Given the description of an element on the screen output the (x, y) to click on. 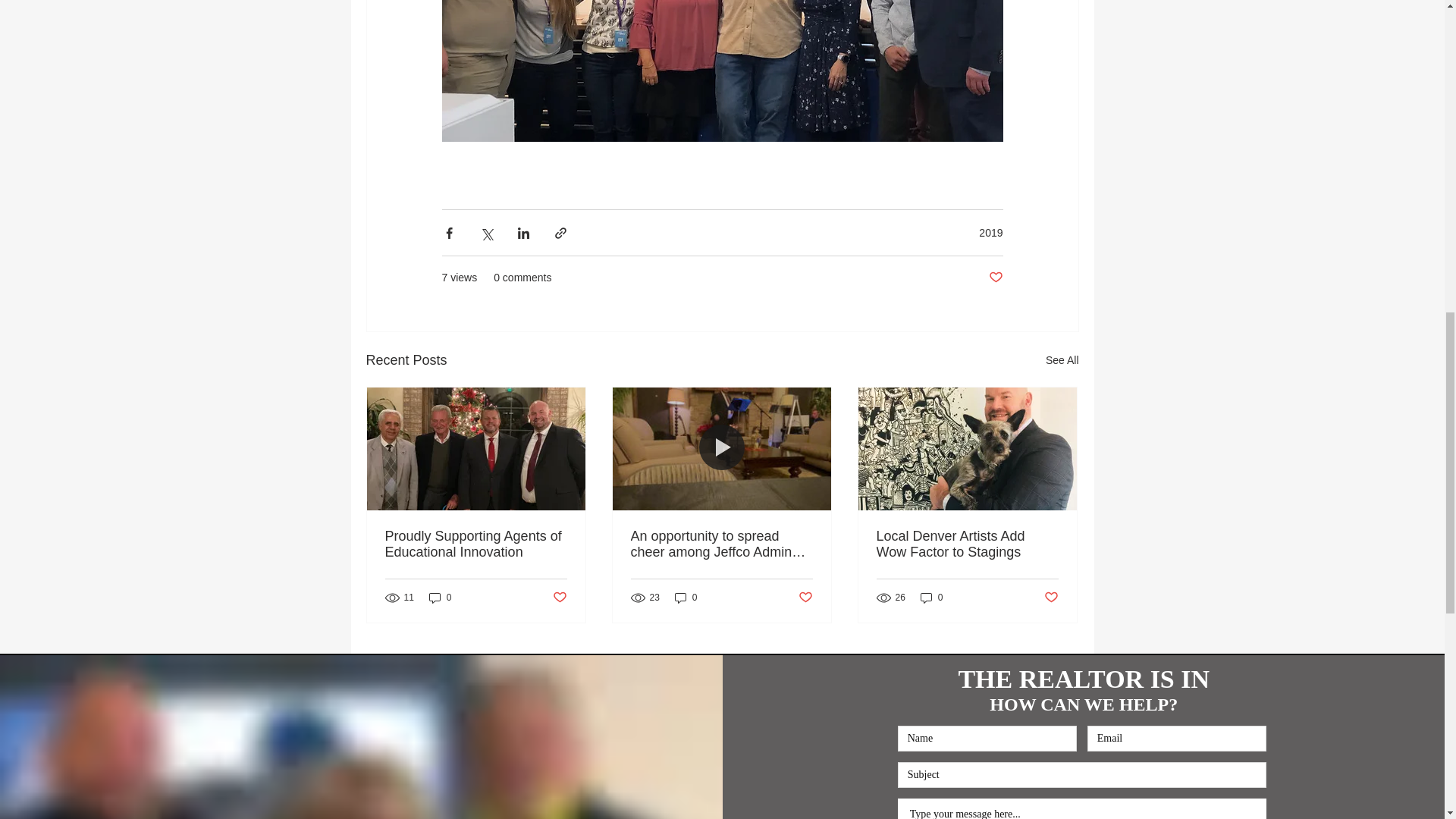
Proudly Supporting Agents of Educational Innovation (476, 544)
An opportunity to spread cheer among Jeffco Admin Team (721, 544)
0 (685, 596)
0 (931, 596)
Post not marked as liked (558, 597)
0 (440, 596)
Post not marked as liked (995, 277)
Local Denver Artists Add Wow Factor to Stagings (967, 544)
Post not marked as liked (804, 597)
2019 (990, 232)
Post not marked as liked (1050, 597)
See All (1061, 360)
